Given the description of an element on the screen output the (x, y) to click on. 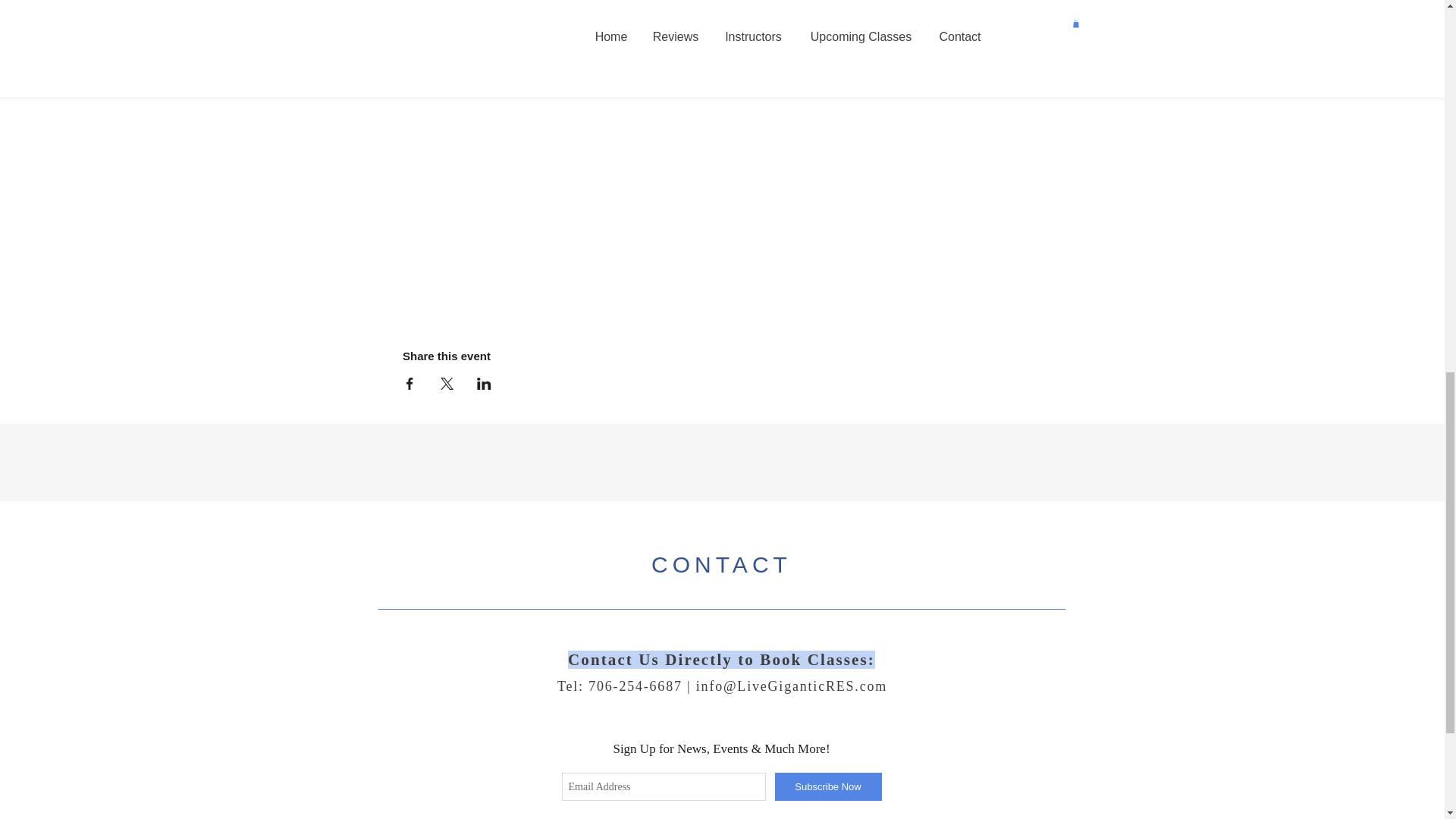
Subscribe Now (828, 786)
